Given the description of an element on the screen output the (x, y) to click on. 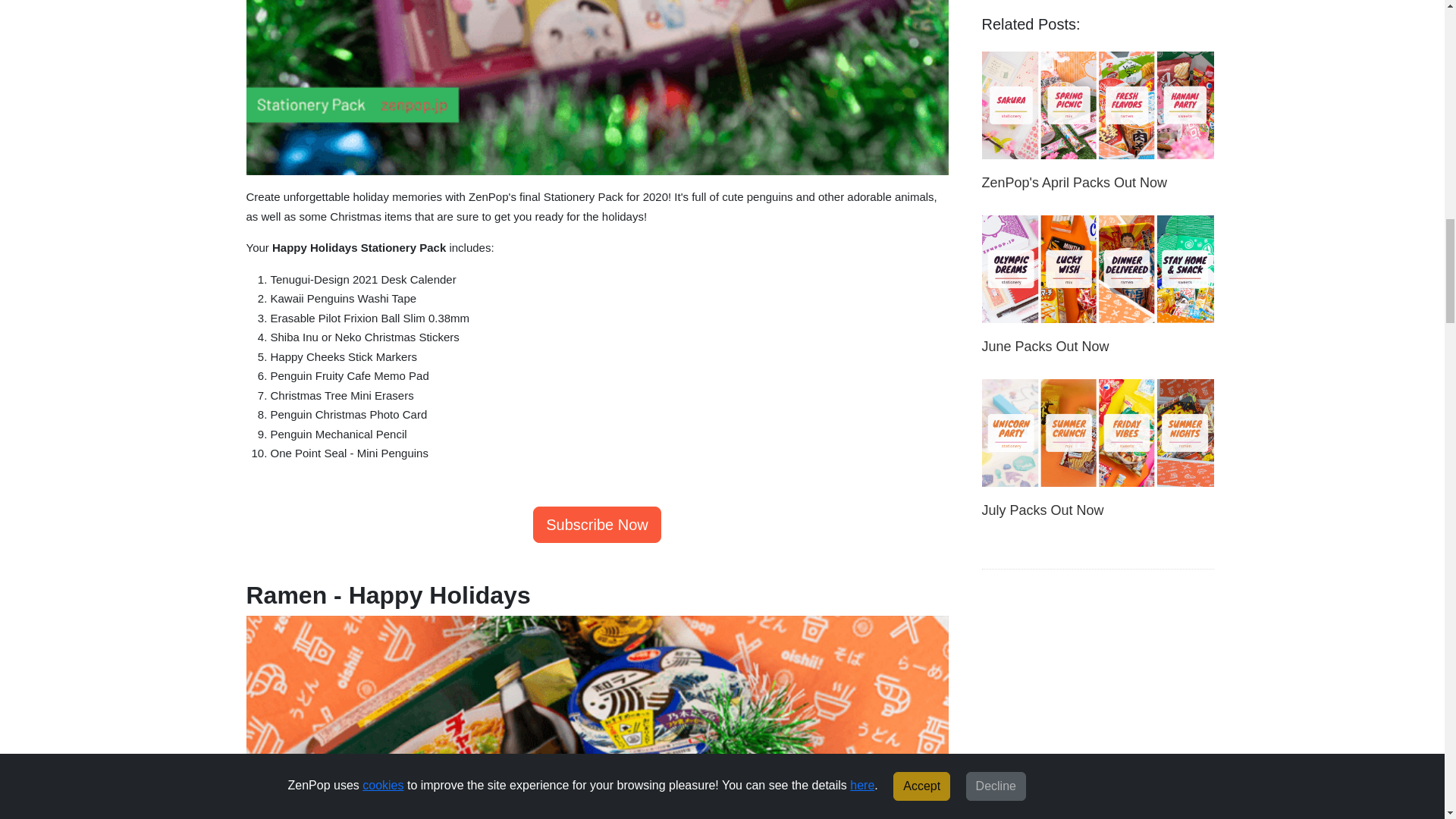
ZenPop's Japanese Stationery Pack (596, 87)
ZenPop's Japanese Stationery Subscription Box (596, 524)
